Given the description of an element on the screen output the (x, y) to click on. 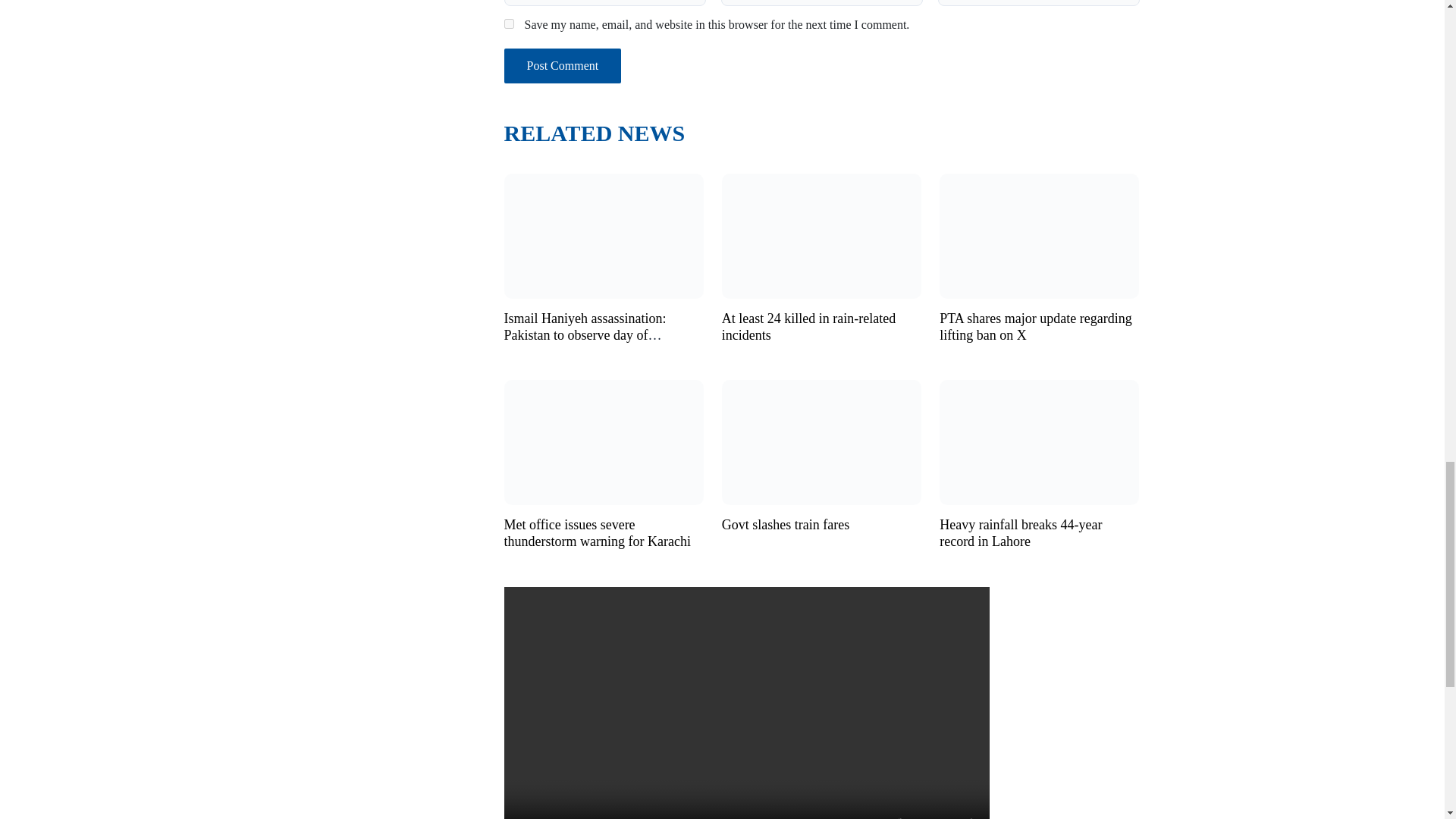
Met office issues severe thunderstorm warning for Karachi (603, 440)
PTA shares major update regarding lifting ban on X (1038, 234)
At least 24 killed in rain-related incidents (808, 327)
yes (508, 23)
Govt slashes train fares (821, 440)
Post Comment (562, 65)
At least 24 killed in rain-related incidents (821, 234)
PTA shares major update regarding lifting ban on X (1035, 327)
Met office issues severe thunderstorm warning for Karachi (596, 532)
